Given the description of an element on the screen output the (x, y) to click on. 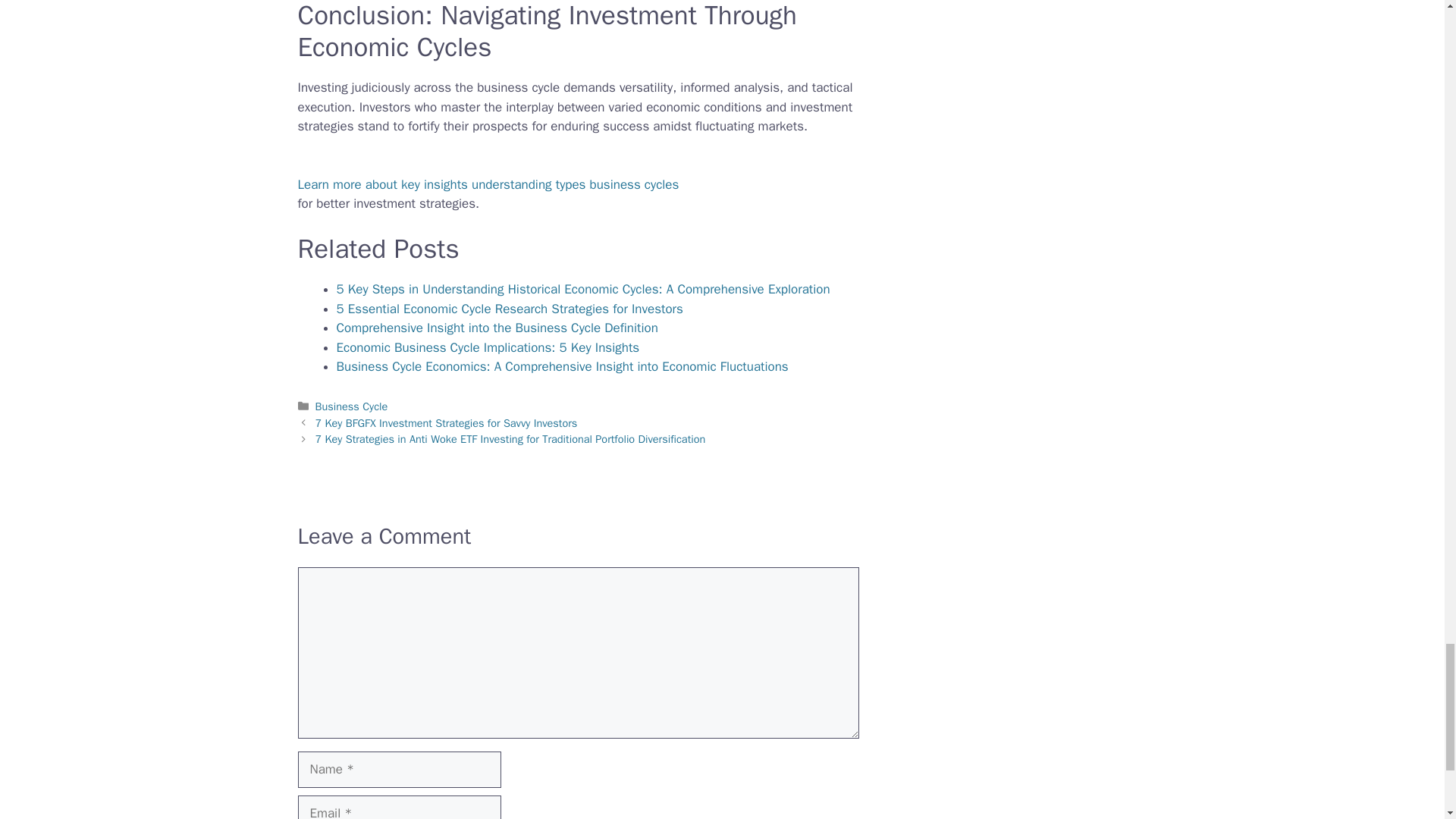
Economic Business Cycle Implications: 5 Key Insights (488, 347)
5 Essential Economic Cycle Research Strategies for Investors (509, 308)
Comprehensive Insight into the Business Cycle Definition (497, 327)
Business Cycle (351, 406)
